Given the description of an element on the screen output the (x, y) to click on. 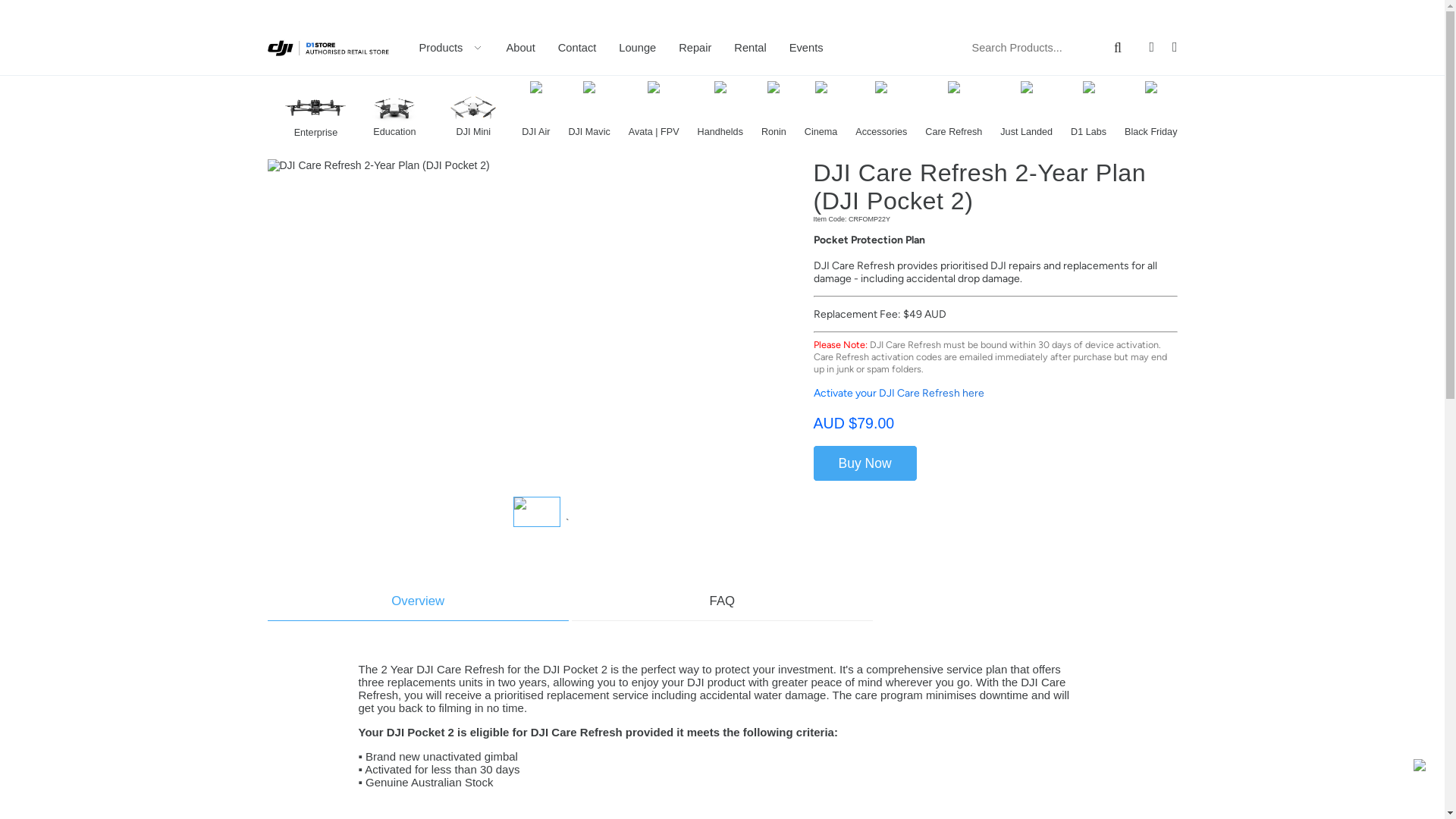
Handhelds Element type: text (720, 109)
About Element type: text (519, 47)
Black Friday Element type: text (1150, 109)
Education Element type: text (394, 109)
DJI Mavic Element type: text (588, 109)
Products Element type: text (450, 48)
Ronin Element type: text (773, 109)
Overview Element type: text (416, 601)
Lounge Element type: text (636, 47)
Repair Element type: text (694, 47)
Cinema Element type: text (820, 109)
Buy Now Element type: text (864, 462)
Avata | FPV Element type: text (653, 109)
Just Landed Element type: text (1026, 109)
Contact Element type: text (577, 47)
Activate your DJI Care Refresh here Element type: text (897, 392)
Rental Element type: text (749, 47)
DJI Mini Element type: text (472, 109)
Events Element type: text (806, 47)
DJI Air Element type: text (535, 109)
Care Refresh Element type: text (953, 109)
FAQ Element type: text (721, 601)
Ex-Demo DJI Goggles Integra Element type: hover (315, 81)
Accessories Element type: text (880, 109)
Enterprise Element type: text (315, 109)
D1 Labs Element type: text (1088, 109)
